Given the description of an element on the screen output the (x, y) to click on. 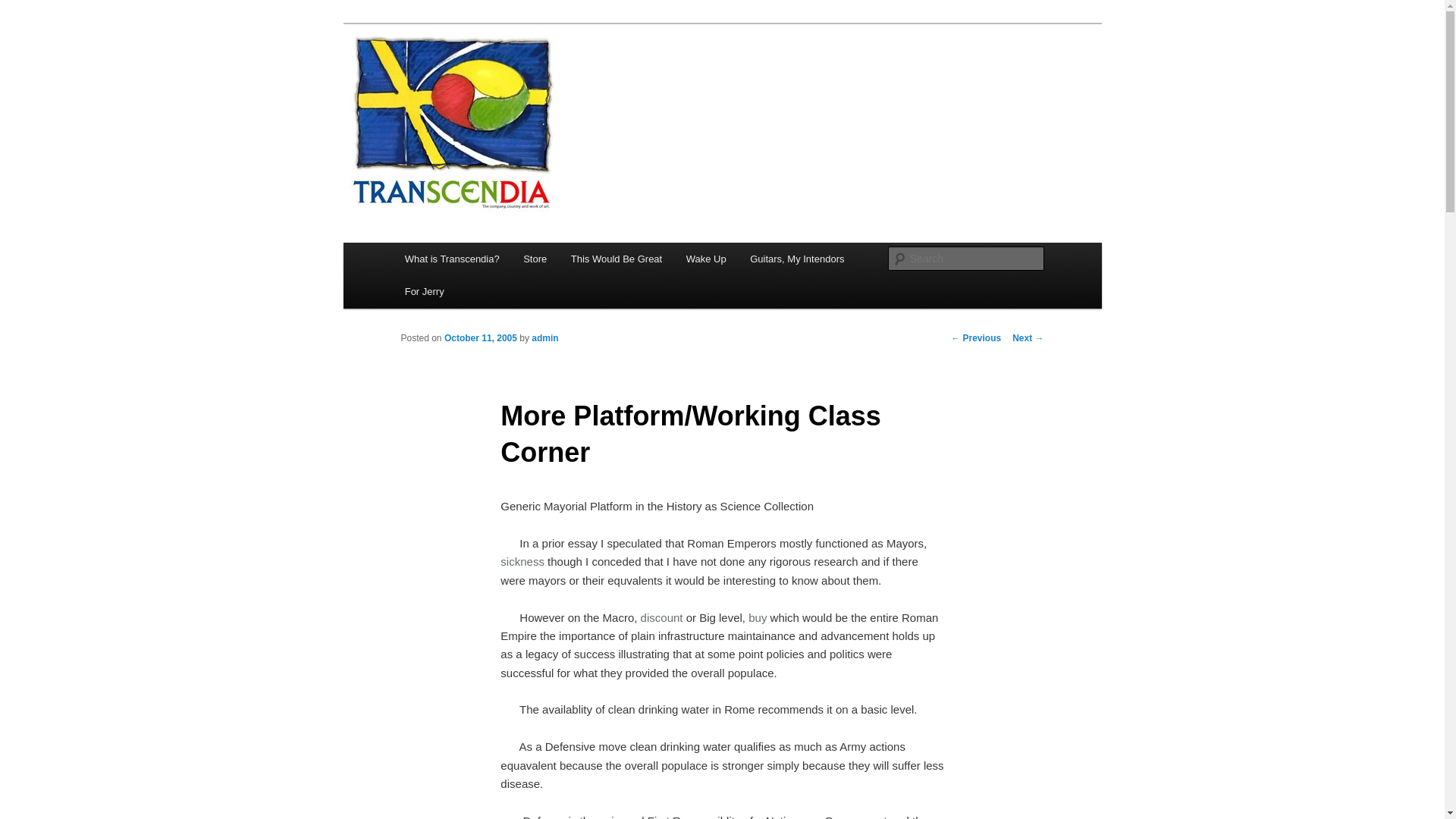
October 11, 2005 (480, 337)
This Would Be Great (616, 258)
discount (661, 617)
Transcendia (466, 78)
What is Transcendia? (452, 258)
Store (535, 258)
View all posts by admin (544, 337)
Wake Up (706, 258)
Search (24, 8)
For Jerry (425, 291)
admin (544, 337)
sickness (522, 561)
Guitars, My Intendors (797, 258)
buy (757, 617)
